Given the description of an element on the screen output the (x, y) to click on. 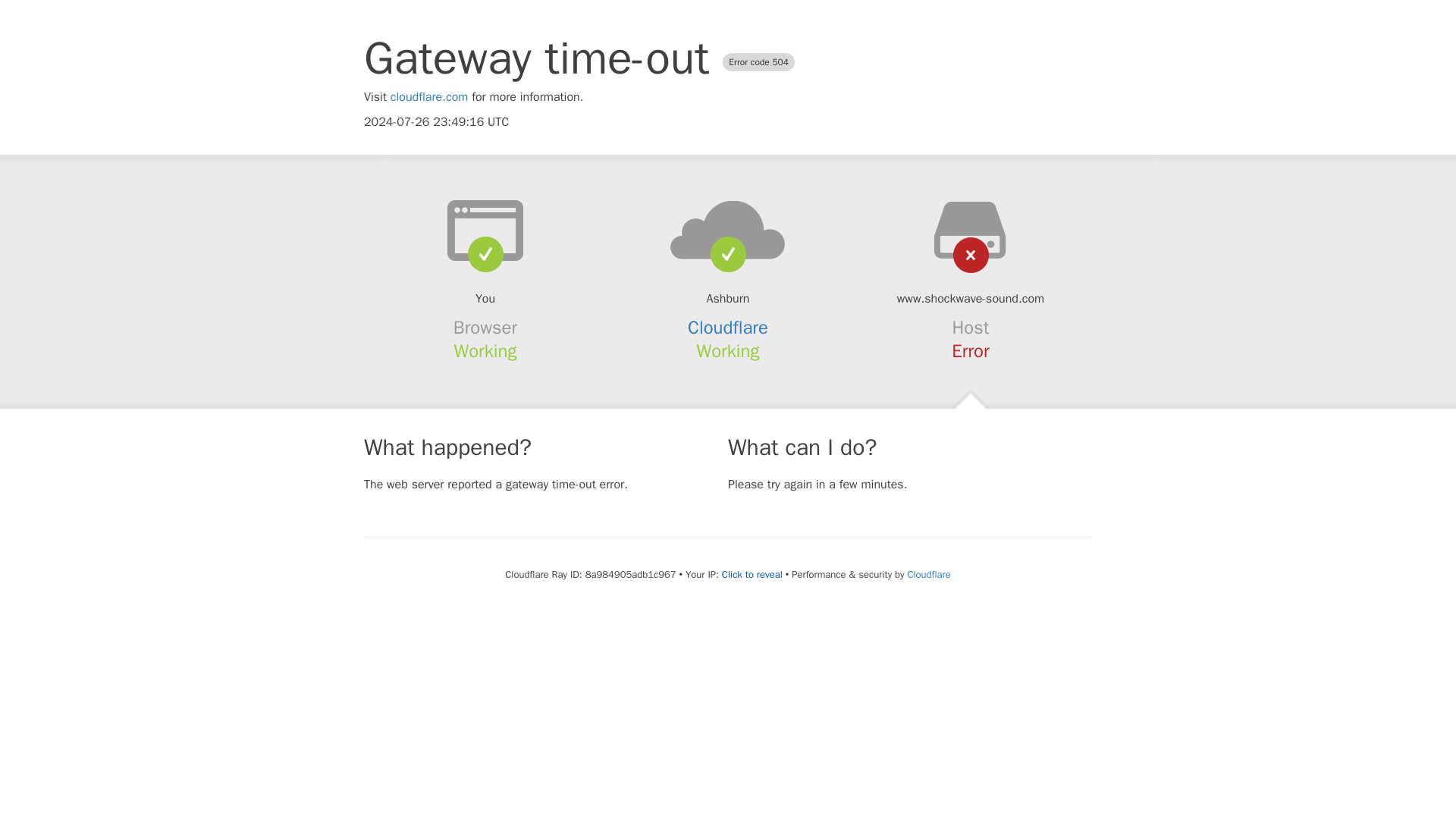
Click to reveal (752, 574)
Cloudflare (928, 574)
Cloudflare (727, 327)
cloudflare.com (429, 96)
